Given the description of an element on the screen output the (x, y) to click on. 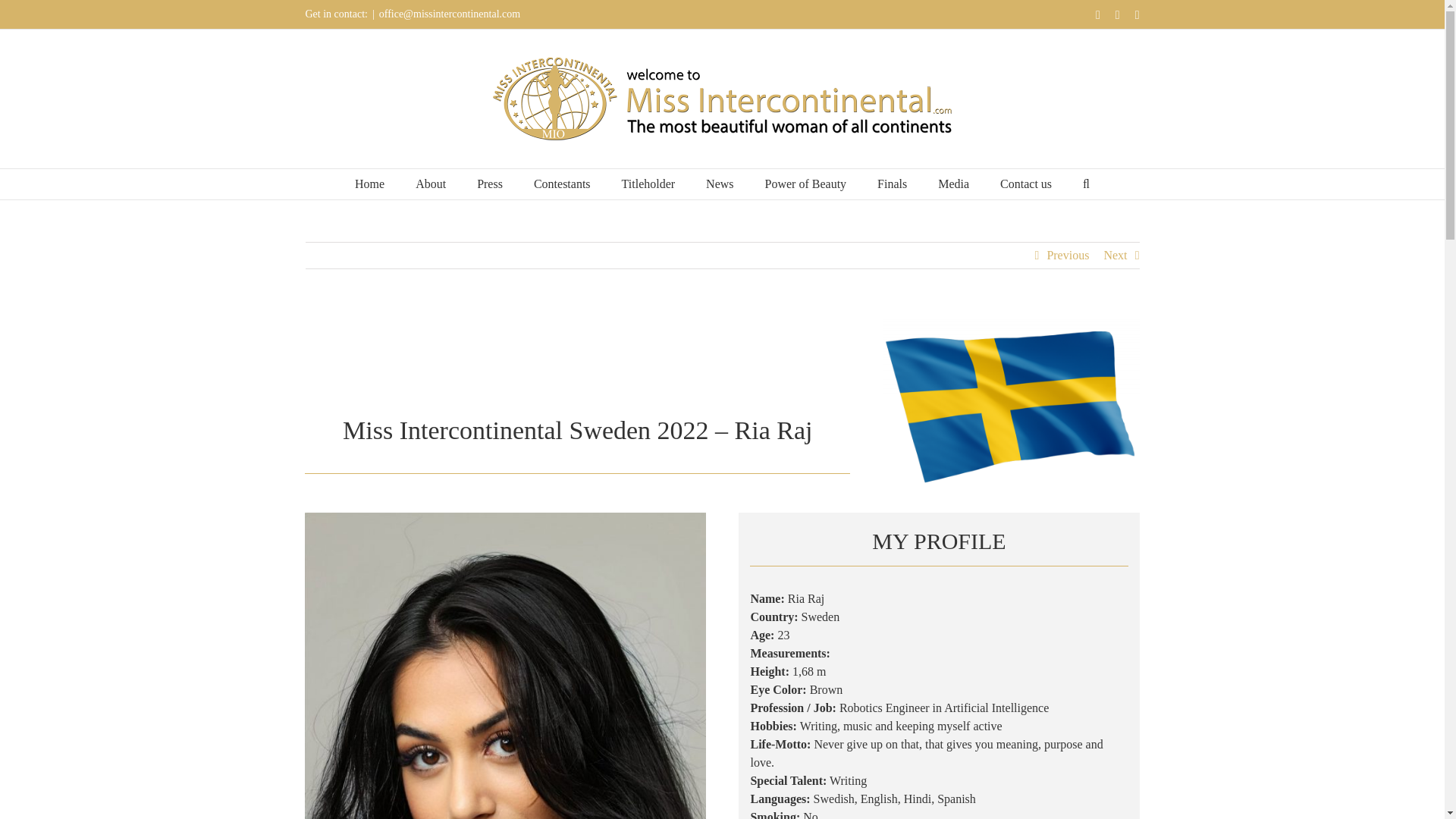
Finals (892, 183)
News (719, 183)
About (429, 183)
Contestants (562, 183)
Power of Beauty (806, 183)
Titleholder (648, 183)
Home (369, 183)
